Given the description of an element on the screen output the (x, y) to click on. 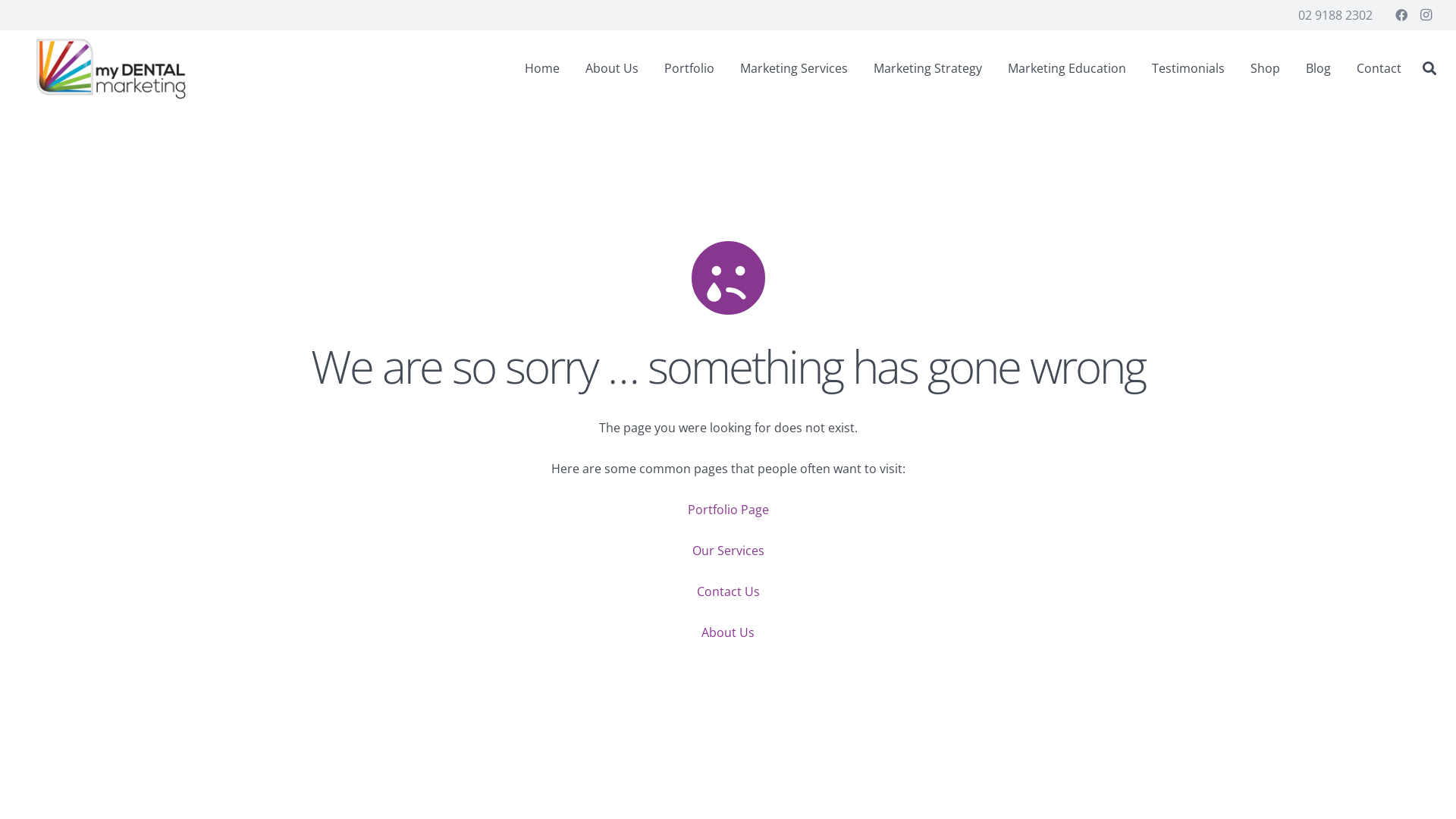
Marketing Services Element type: text (793, 68)
Contact Us Element type: text (727, 591)
Portfolio Page Element type: text (727, 509)
Shop Element type: text (1264, 68)
About Us Element type: text (727, 632)
Home Element type: text (541, 68)
Facebook Element type: hover (1401, 15)
Marketing Education Element type: text (1066, 68)
Contact Element type: text (1378, 68)
Portfolio Element type: text (689, 68)
Instagram Element type: hover (1425, 15)
Marketing Strategy Element type: text (927, 68)
About Us Element type: text (611, 68)
Blog Element type: text (1317, 68)
Our Services Element type: text (727, 550)
02 9188 2302 Element type: text (1335, 14)
Testimonials Element type: text (1188, 68)
